Given the description of an element on the screen output the (x, y) to click on. 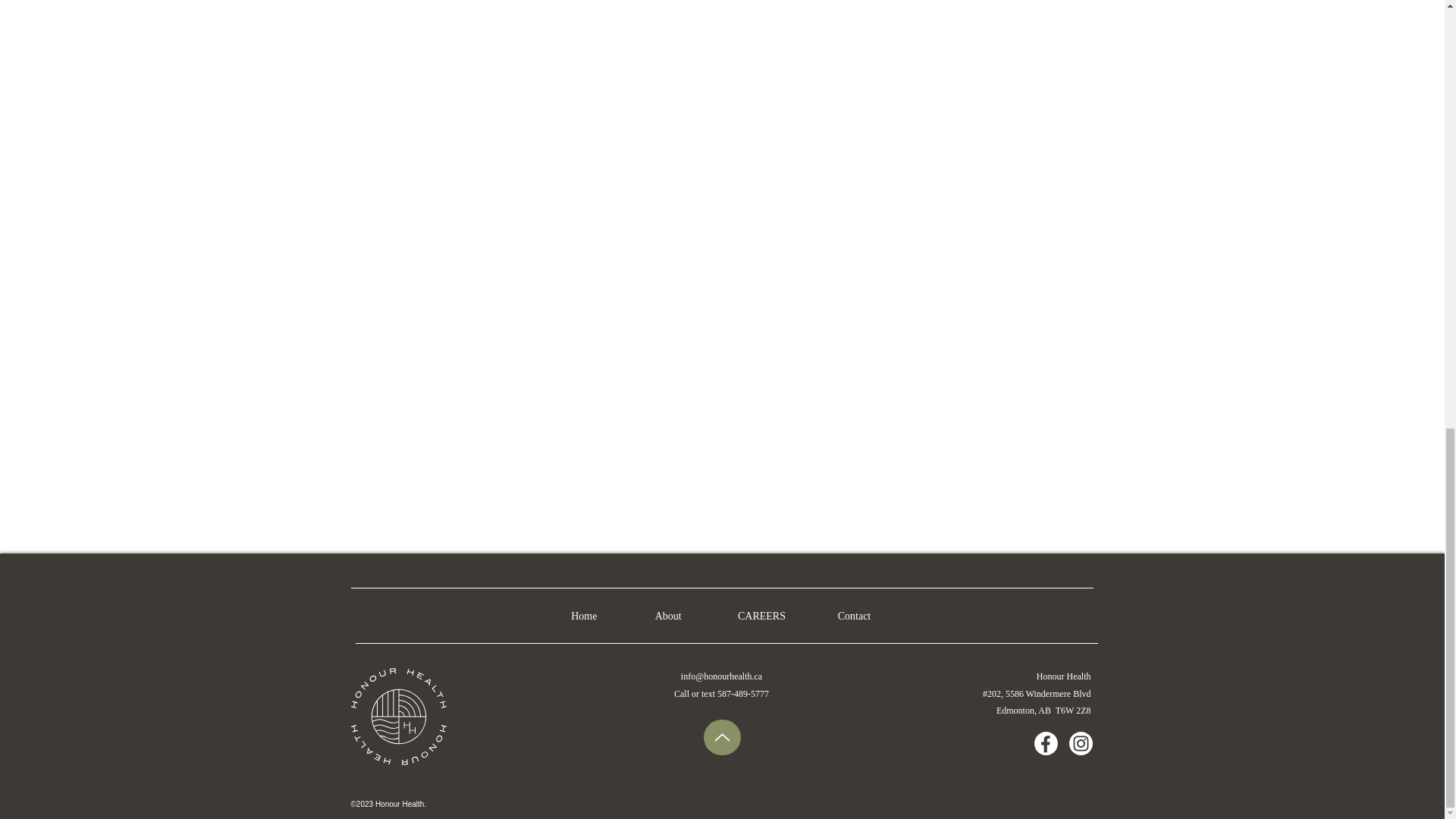
Contact (854, 615)
About  (669, 615)
Call or text 587-489-5777 (721, 693)
Home  (584, 615)
